Given the description of an element on the screen output the (x, y) to click on. 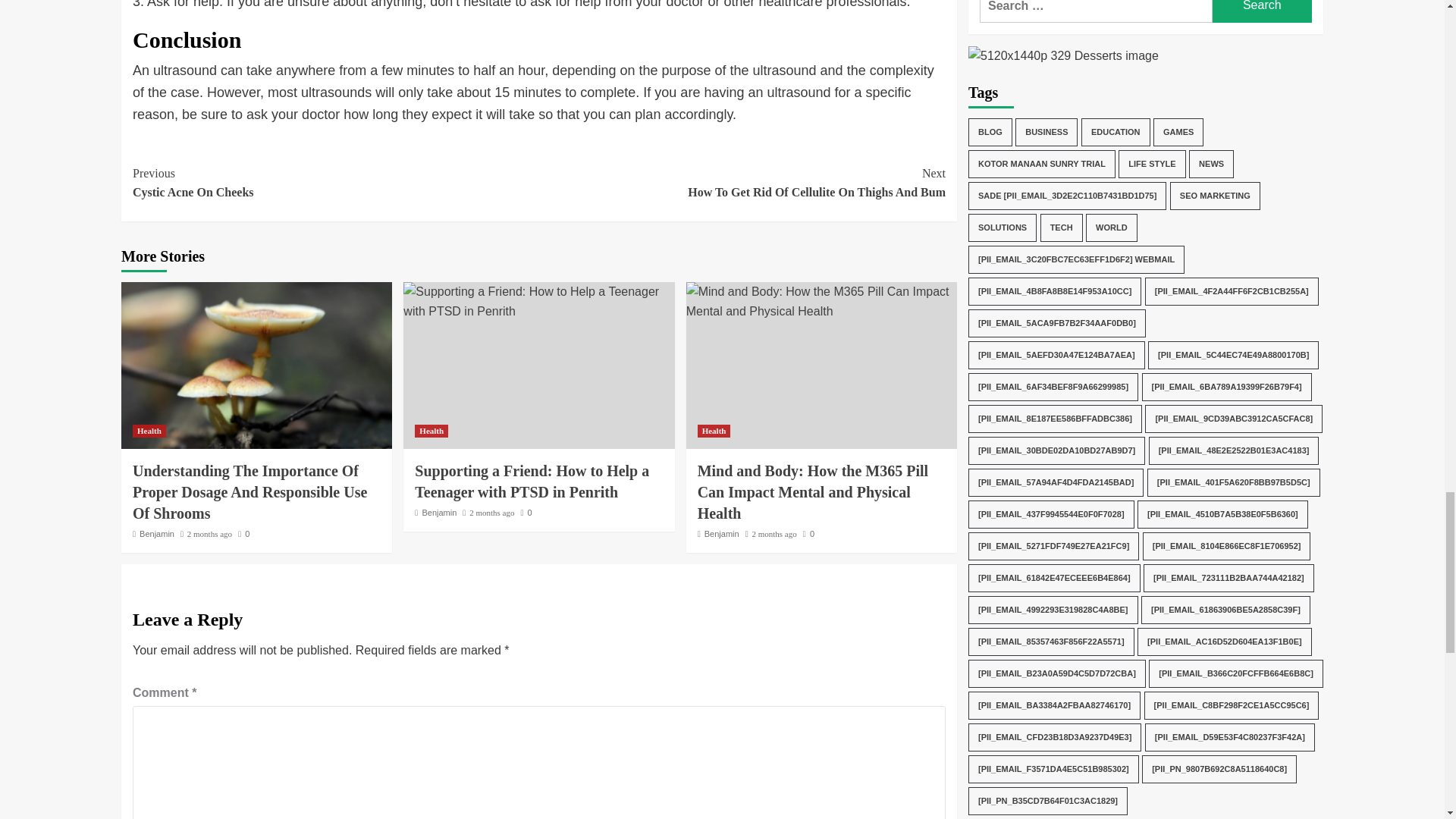
Health (741, 182)
2 months ago (148, 431)
Benjamin (209, 533)
